Given the description of an element on the screen output the (x, y) to click on. 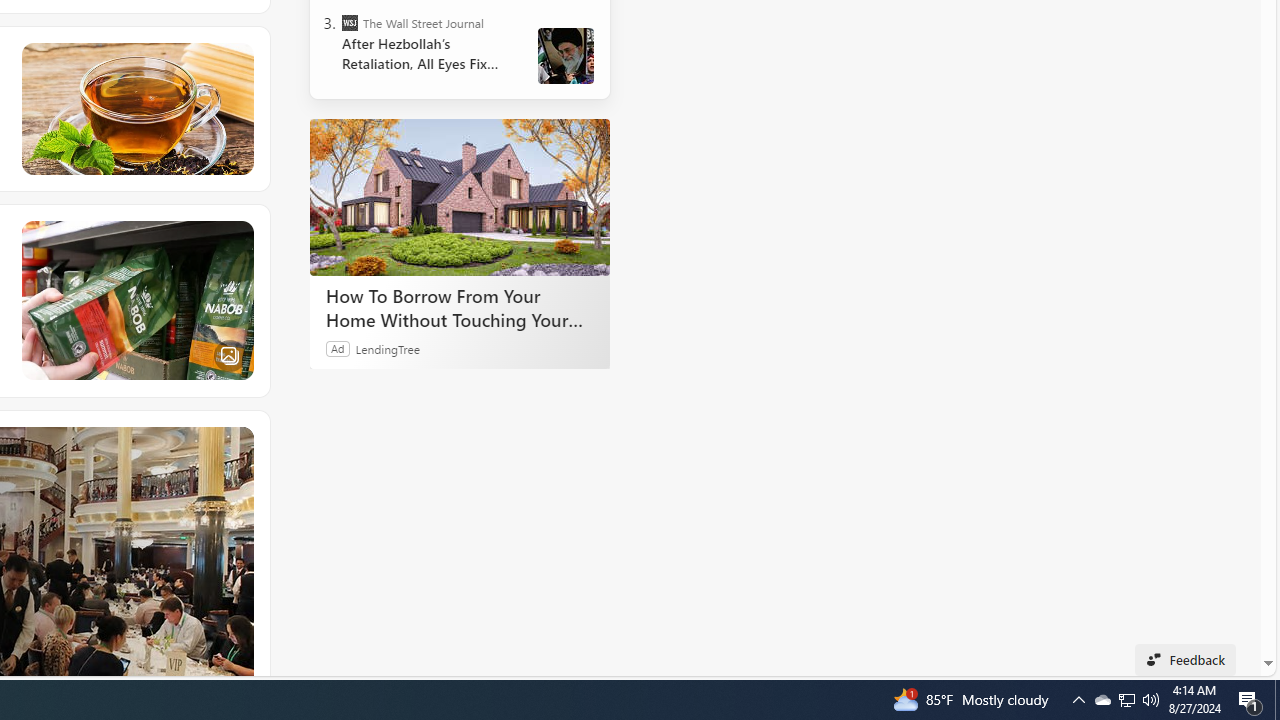
How To Borrow From Your Home Without Touching Your Mortgage (459, 307)
How To Borrow From Your Home Without Touching Your Mortgage (459, 196)
The Wall Street Journal (349, 22)
LendingTree (387, 348)
